Given the description of an element on the screen output the (x, y) to click on. 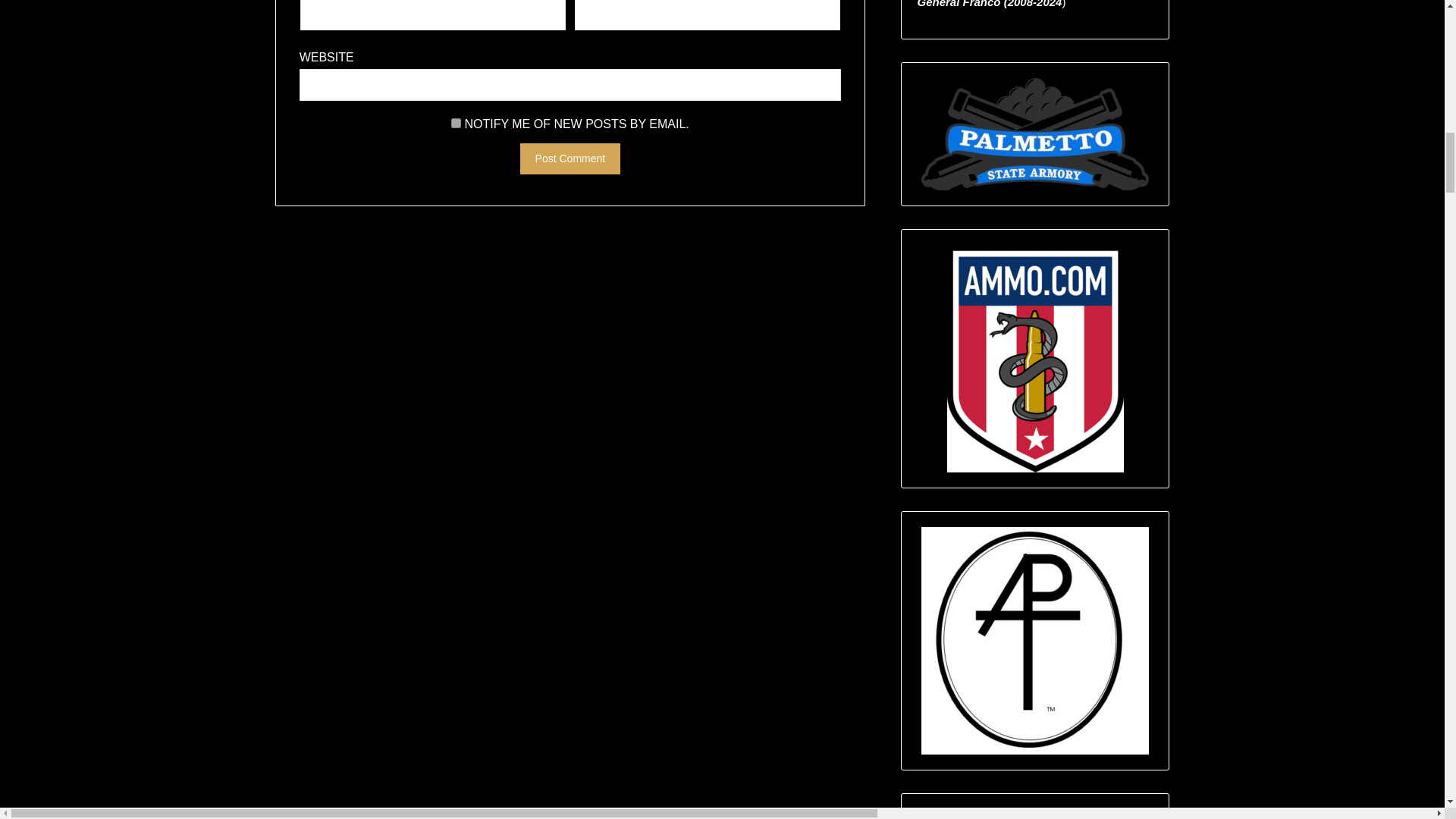
Got Training? Get it Today from the Best in the Business! (1034, 814)
American Partisan Online Magazine (1034, 640)
subscribe (456, 122)
Post Comment (570, 158)
Got Weapons? Stock Up Today! (1034, 133)
Post Comment (570, 158)
